Given the description of an element on the screen output the (x, y) to click on. 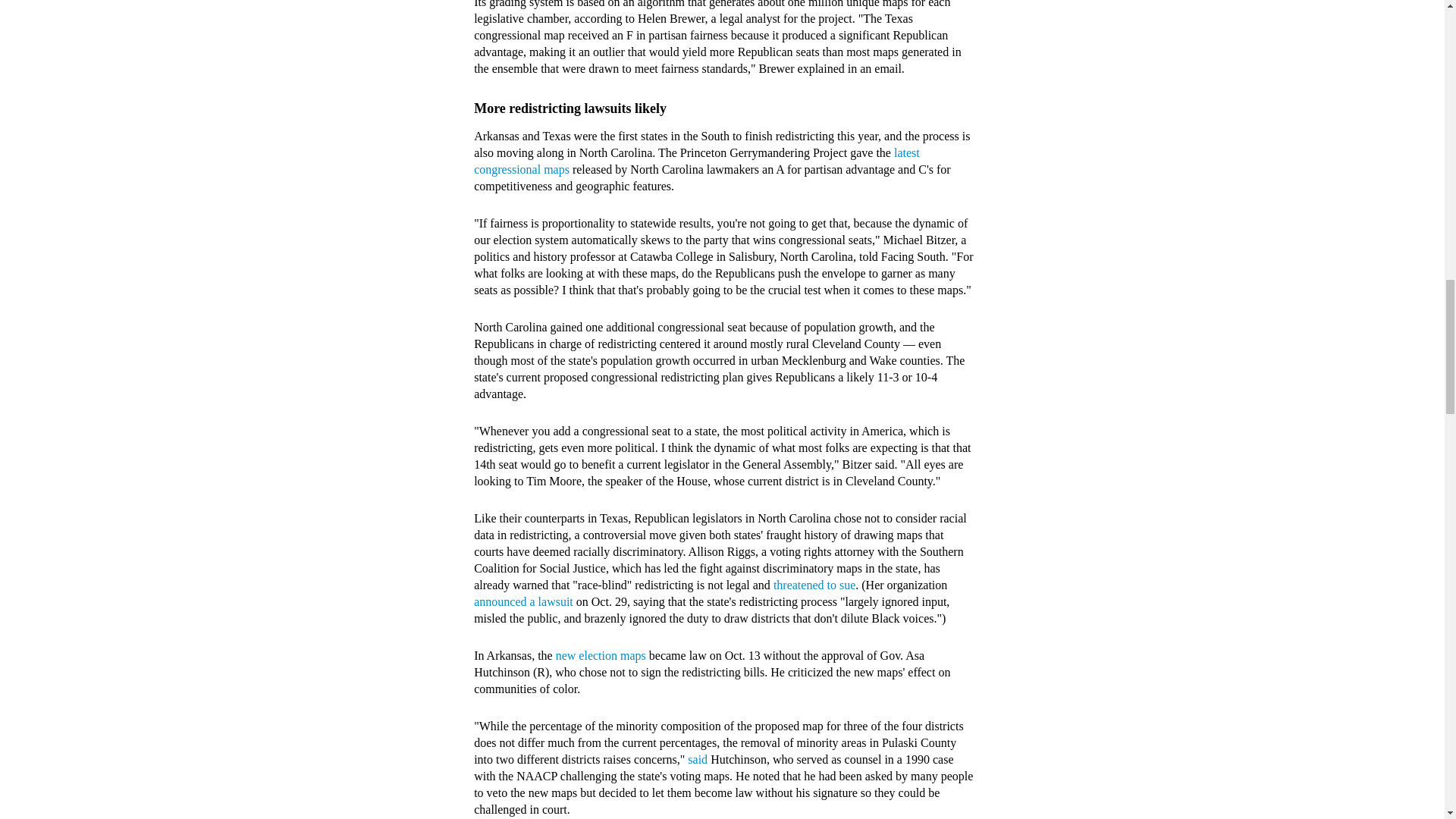
latest congressional maps (697, 161)
said (697, 758)
new election maps (601, 655)
announced a lawsuit (523, 601)
threatened to sue (814, 584)
